Given the description of an element on the screen output the (x, y) to click on. 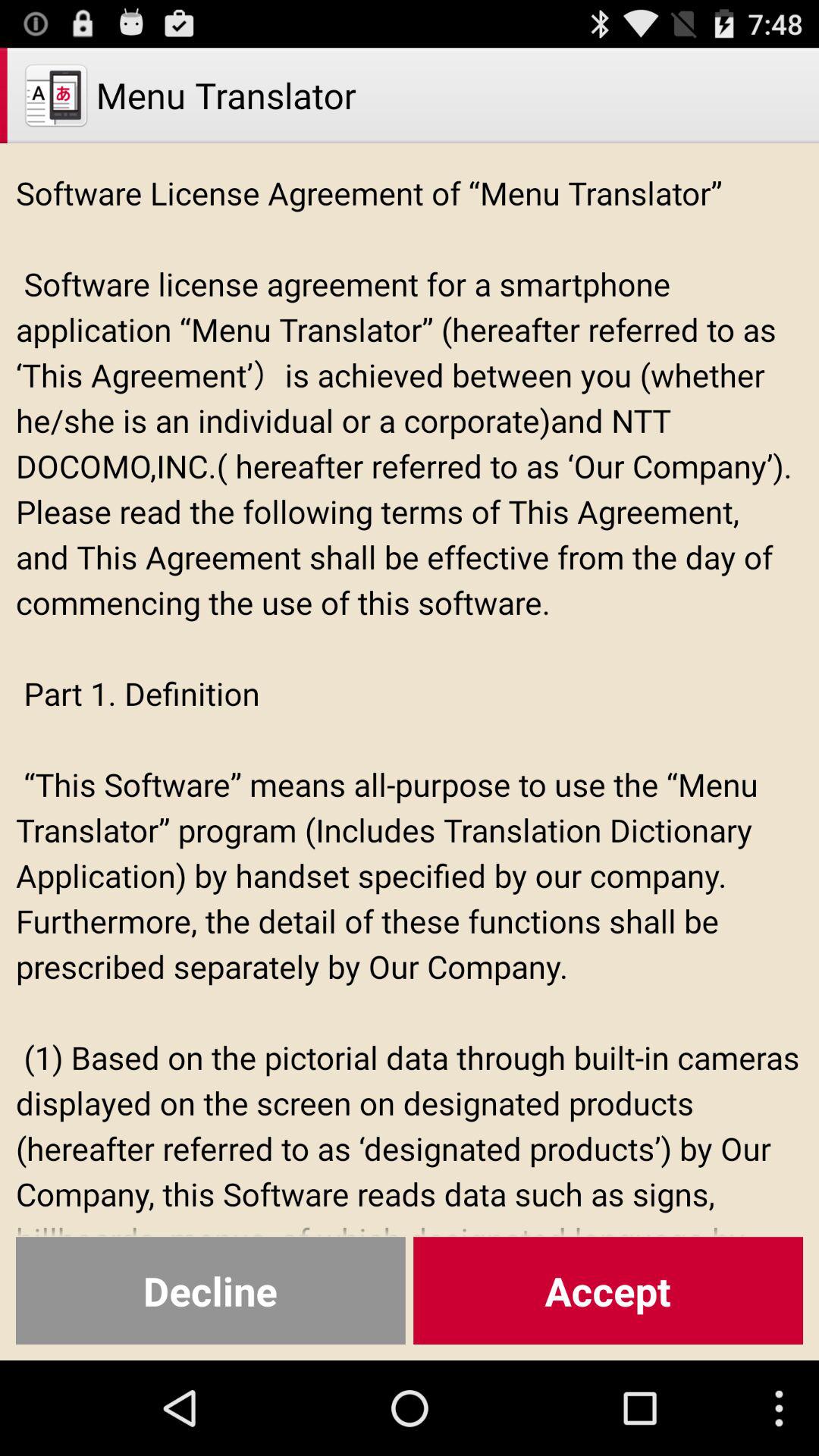
select the decline at the bottom left corner (210, 1290)
